Given the description of an element on the screen output the (x, y) to click on. 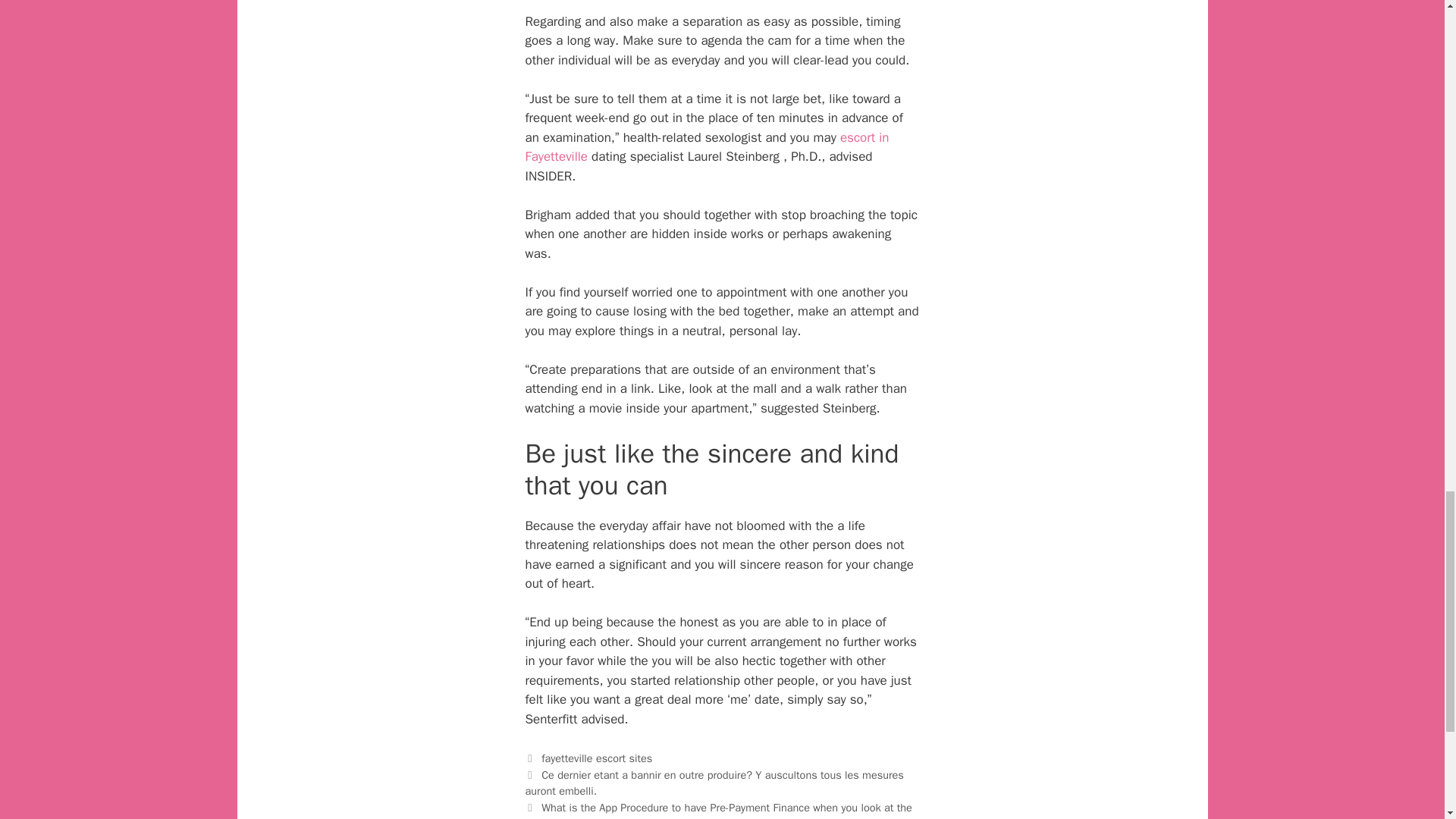
escort in Fayetteville (706, 147)
fayetteville escort sites (596, 757)
